Given the description of an element on the screen output the (x, y) to click on. 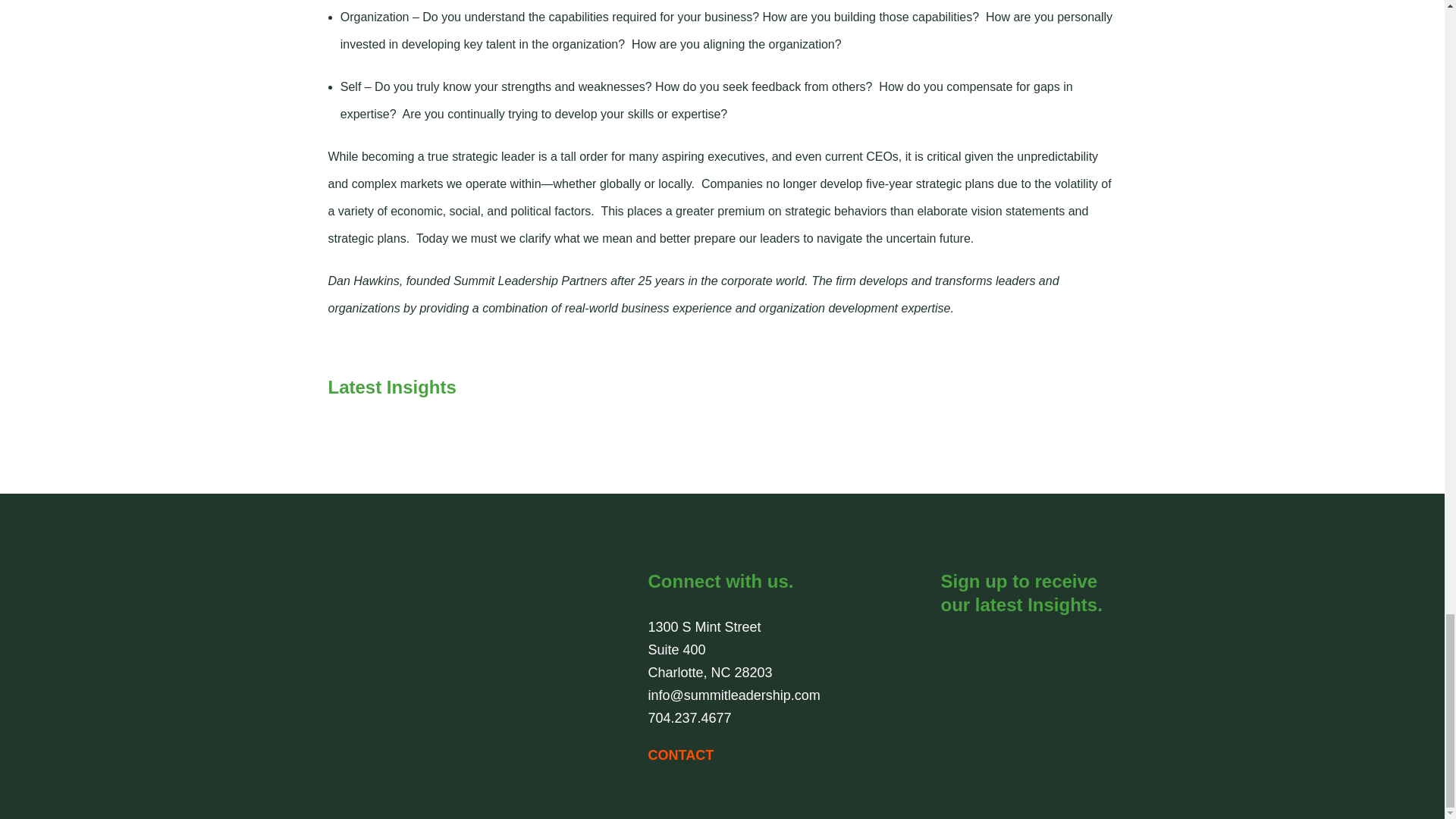
Email us (733, 694)
Home (421, 652)
Summit LeadershipTwitter (1019, 648)
Call 704-237-4677 (688, 717)
Summit LeadershipLinkedIn (953, 648)
Summit LeadershipFacebook (986, 648)
